Given the description of an element on the screen output the (x, y) to click on. 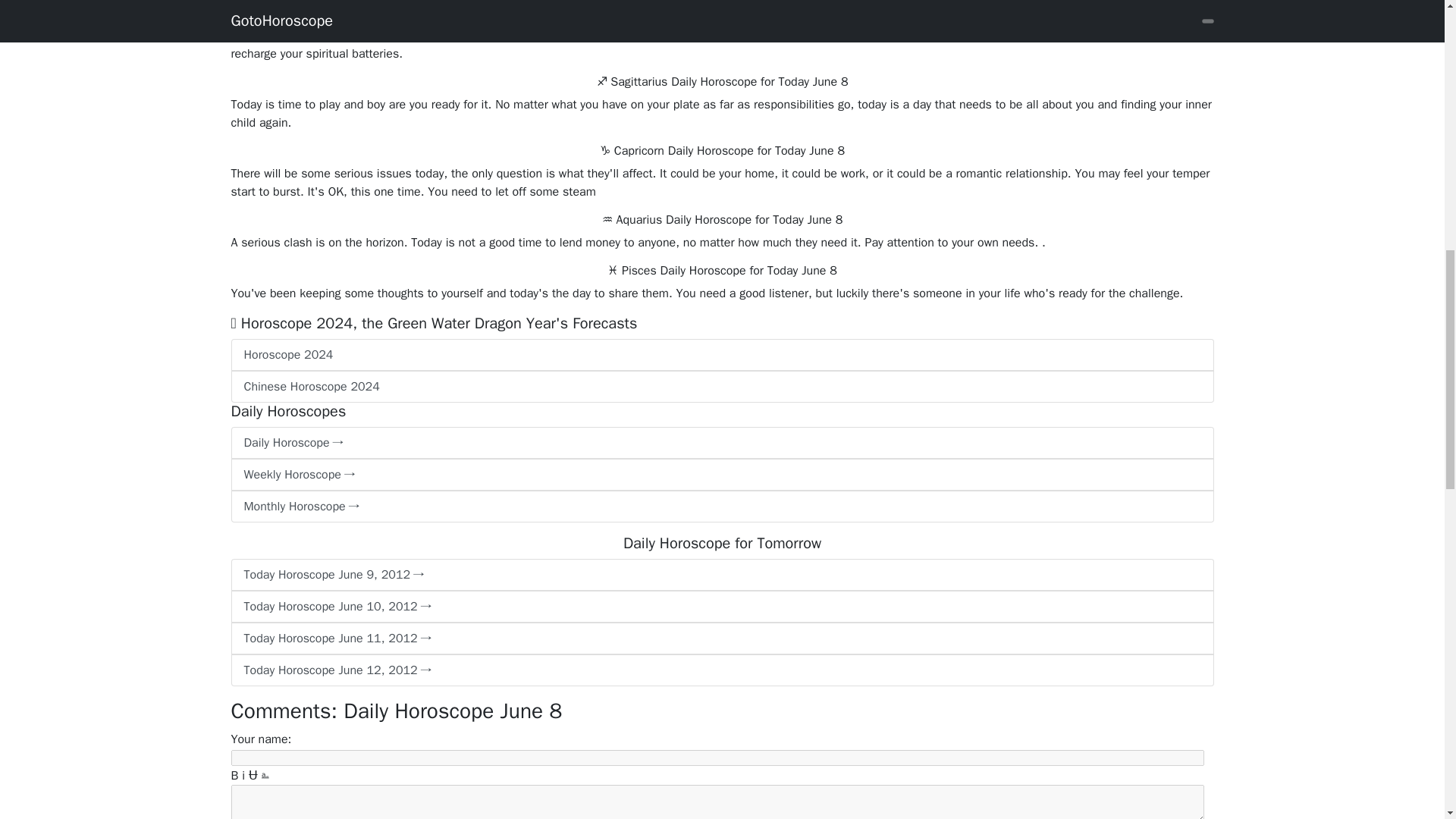
Today Horoscope June 9, 2012 (721, 574)
Today Horoscope June 12, 2012 (721, 670)
Horoscope 2024 (721, 355)
Today Horoscope June 10, 2012 (721, 606)
Daily Horoscope (721, 442)
Chinese Horoscope 2024 (721, 386)
Today Horoscope June 11, 2012 (721, 638)
Weekly Horoscope (721, 474)
Monthly Horoscope (721, 506)
